Given the description of an element on the screen output the (x, y) to click on. 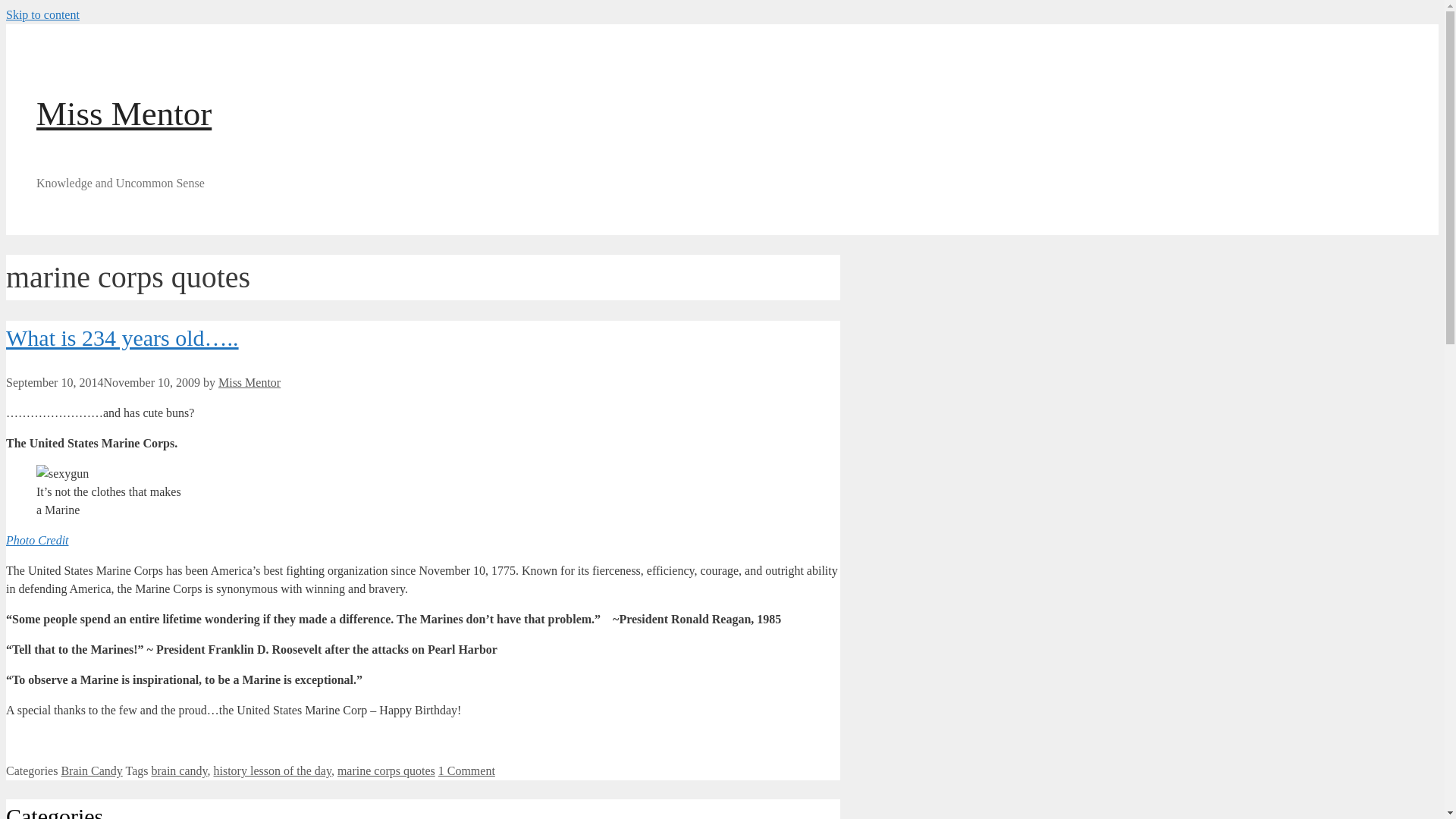
Skip to content (42, 14)
View all posts by Miss Mentor (249, 382)
marine corps quotes (386, 770)
sexygun (62, 474)
history lesson of the day (272, 770)
1 Comment (466, 770)
Skip to content (42, 14)
Photo Credit (36, 540)
Miss Mentor (249, 382)
Miss Mentor (123, 113)
